Given the description of an element on the screen output the (x, y) to click on. 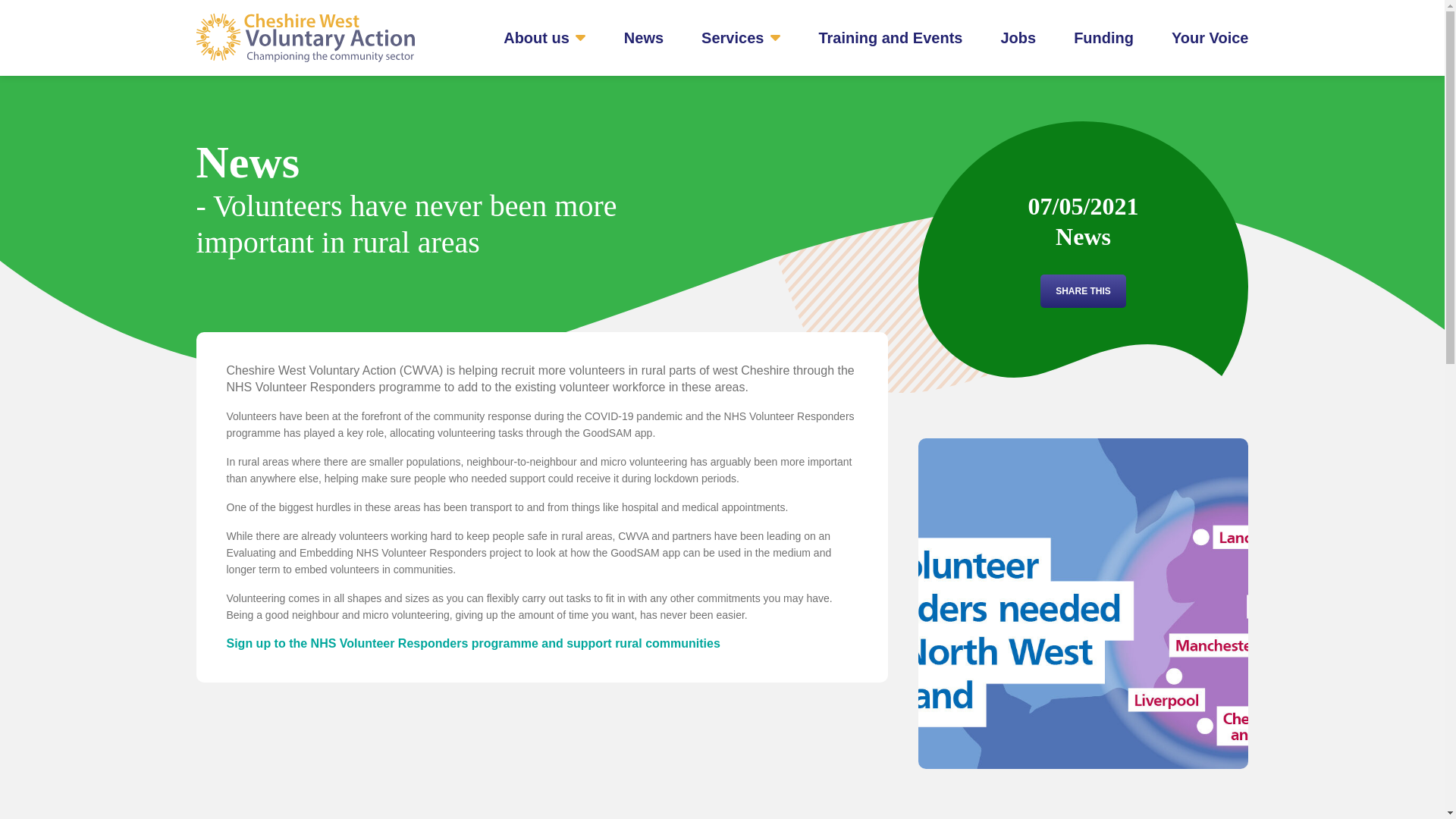
About us (544, 37)
Training and Events (890, 37)
SHARE THIS (1083, 290)
Jobs (1017, 37)
Funding (1104, 37)
Services (740, 37)
News (643, 37)
Your Voice (1210, 37)
